Given the description of an element on the screen output the (x, y) to click on. 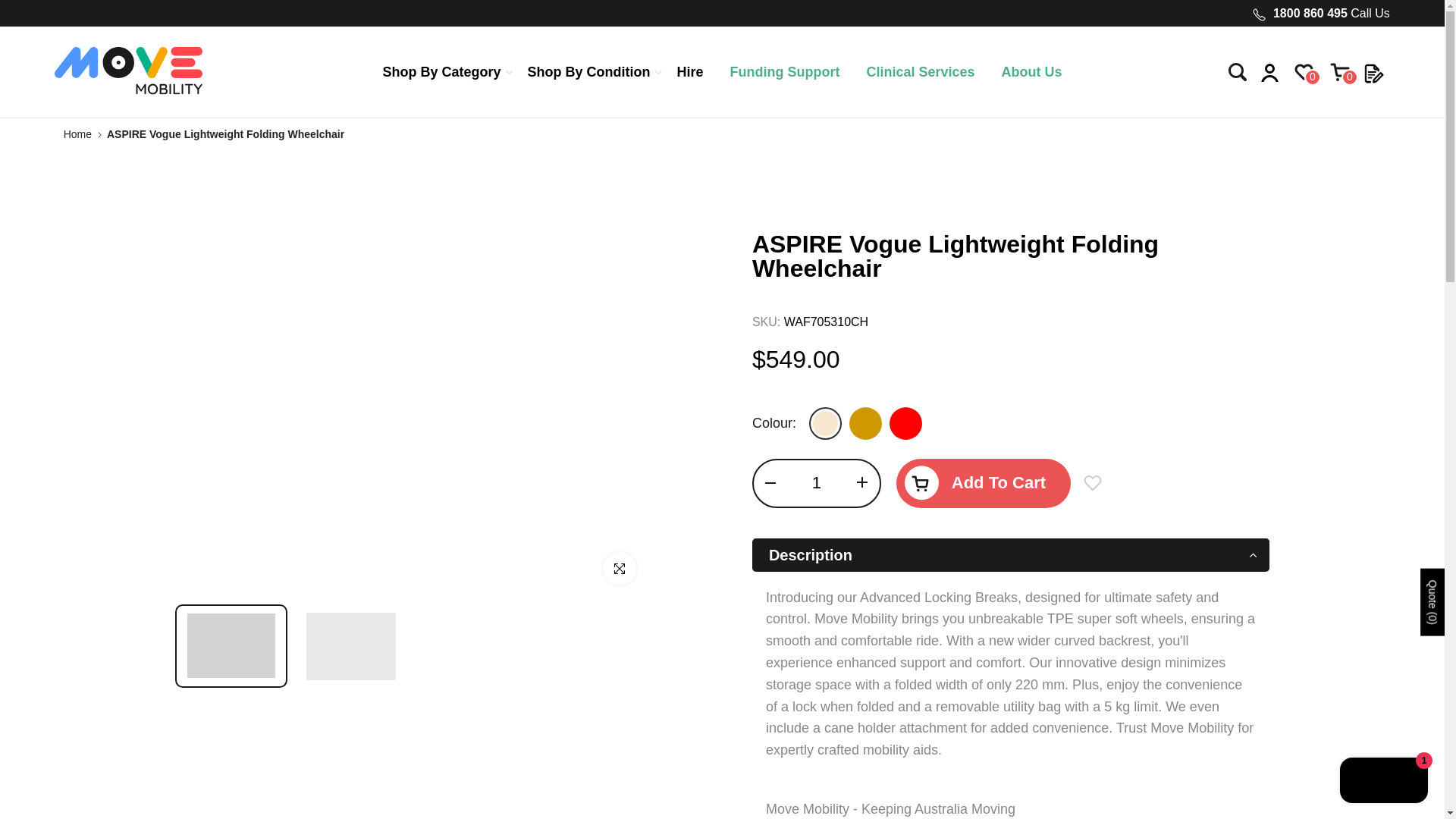
Leopard (865, 423)
Red (905, 423)
1800 860 495 (1310, 12)
1800 860 495 (1310, 12)
1 (816, 483)
Skip to content (10, 7)
Shop By Category (447, 71)
Champagne (825, 423)
Shopify online store chat (1383, 781)
